Given the description of an element on the screen output the (x, y) to click on. 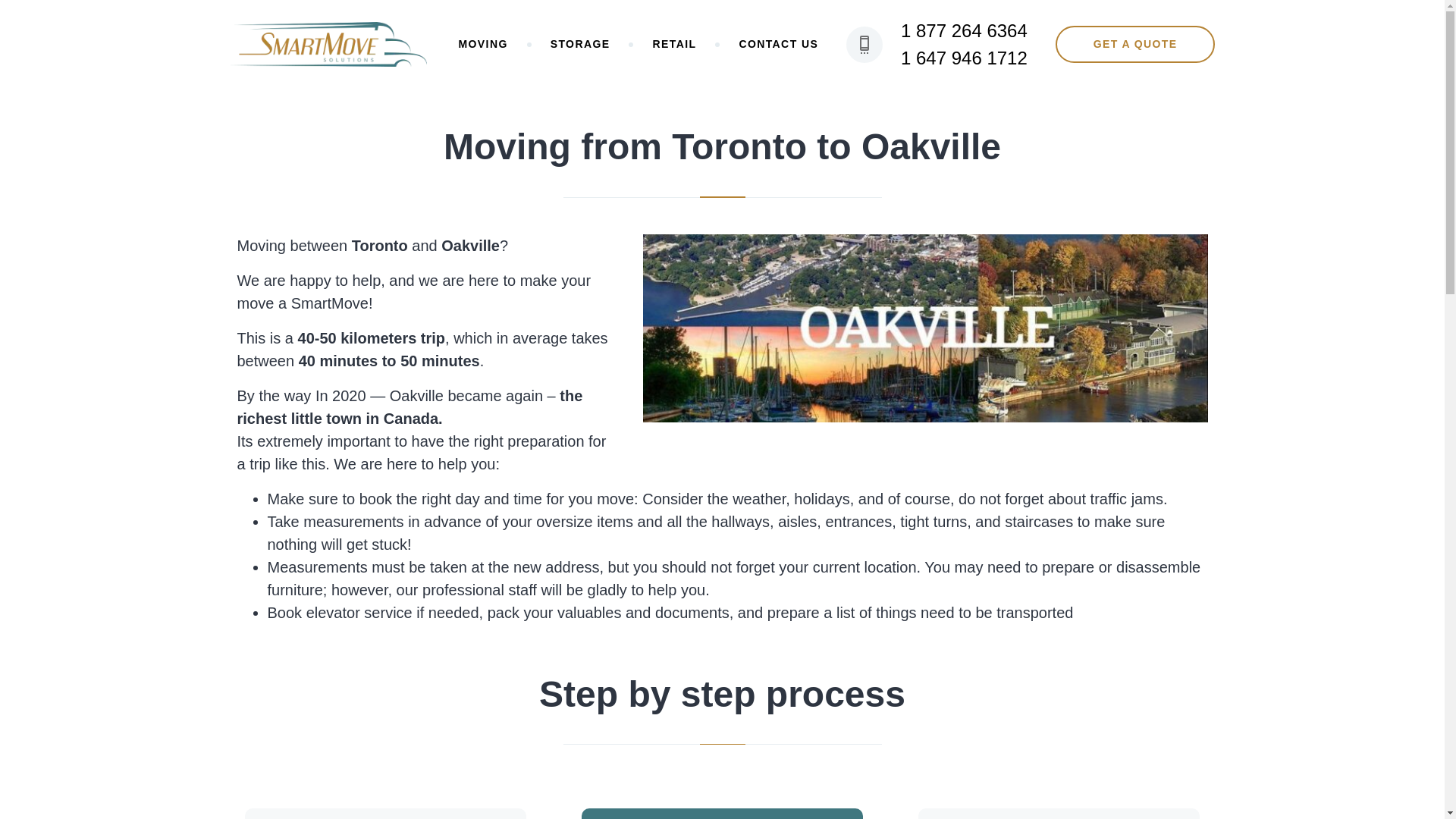
CONTACT US (778, 44)
1 877 264 6364 (964, 30)
1 647 946 1712 (964, 57)
GET A QUOTE (1135, 44)
